Given the description of an element on the screen output the (x, y) to click on. 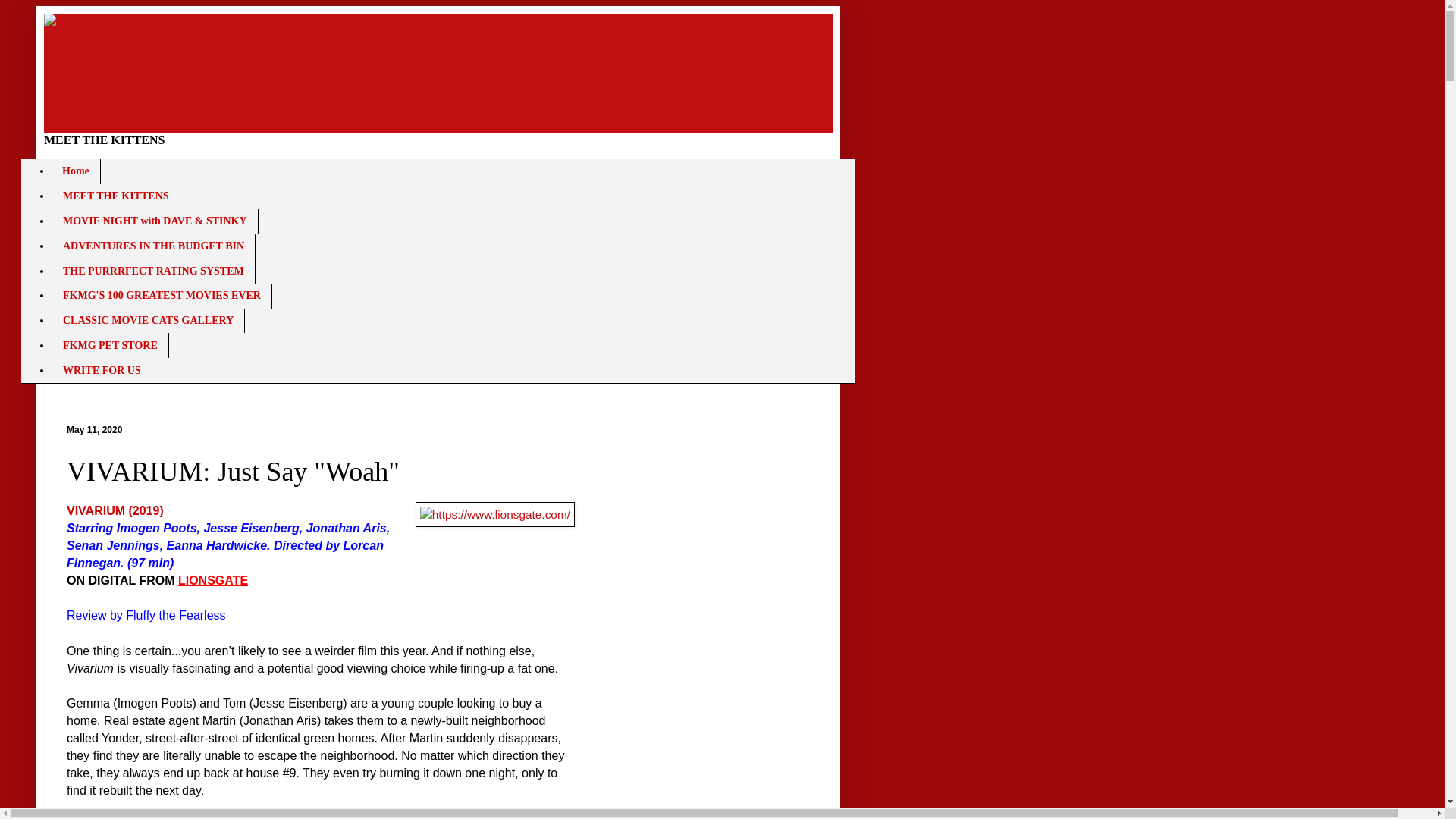
WRITE FOR US (101, 370)
FKMG'S 100 GREATEST MOVIES EVER (161, 295)
THE PURRRFECT RATING SYSTEM (153, 270)
FKMG PET STORE (109, 344)
MEET THE KITTENS (115, 196)
Home (75, 171)
CLASSIC MOVIE CATS GALLERY (147, 320)
LIONSGATE (212, 580)
ADVENTURES IN THE BUDGET BIN (153, 245)
